Given the description of an element on the screen output the (x, y) to click on. 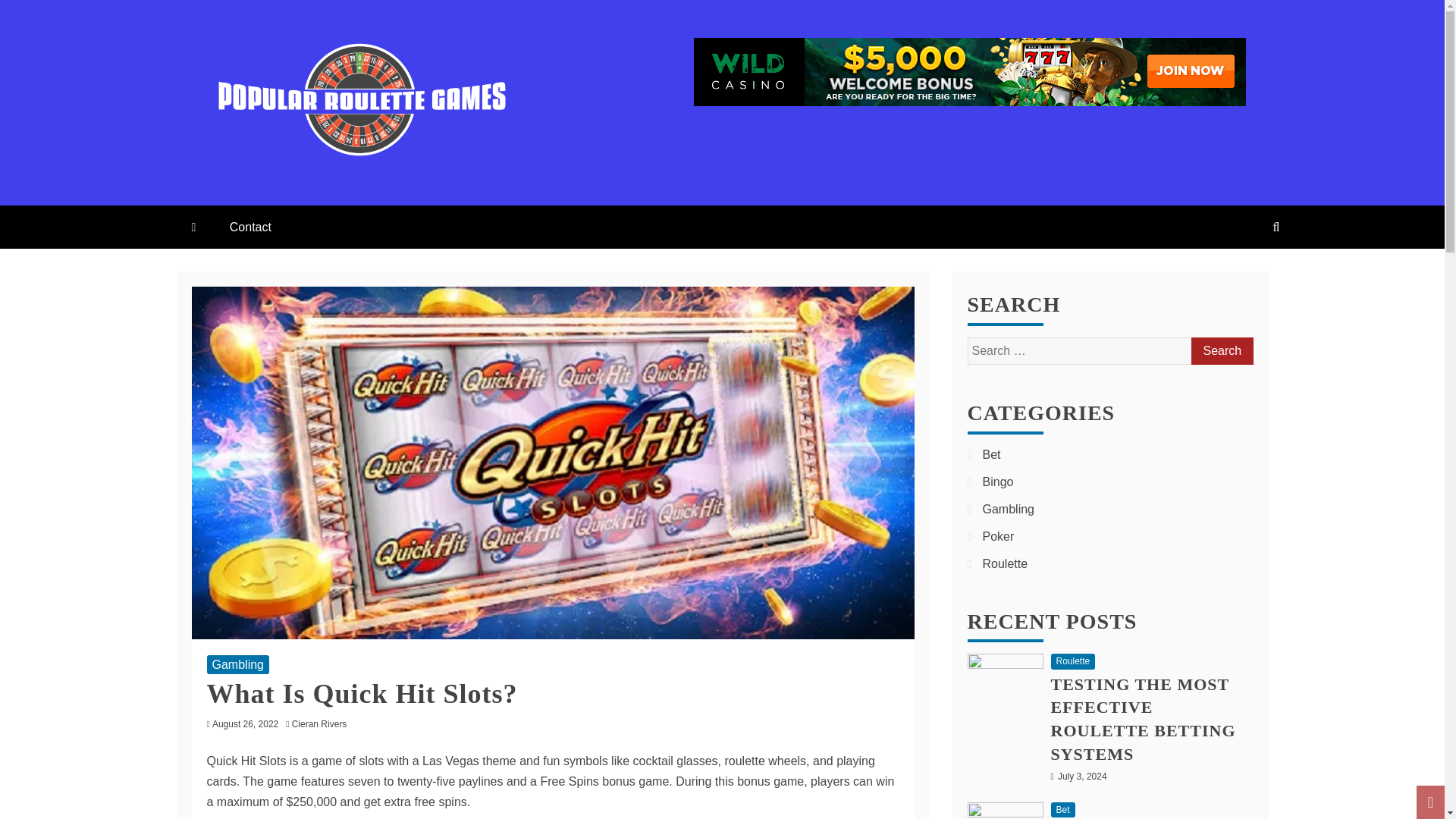
Bet (991, 454)
August 26, 2022 (245, 724)
Search (1221, 350)
July 3, 2024 (1082, 776)
Cieran Rivers (323, 724)
Gambling (1007, 508)
Roulette (1004, 563)
TESTING THE MOST EFFECTIVE ROULETTE BETTING SYSTEMS (1143, 718)
Search (1221, 350)
Contact (250, 226)
Bingo (997, 481)
Poker (998, 535)
Gambling (236, 664)
Roulette (1073, 661)
POPULAR ROULETTE GAMES (460, 189)
